Given the description of an element on the screen output the (x, y) to click on. 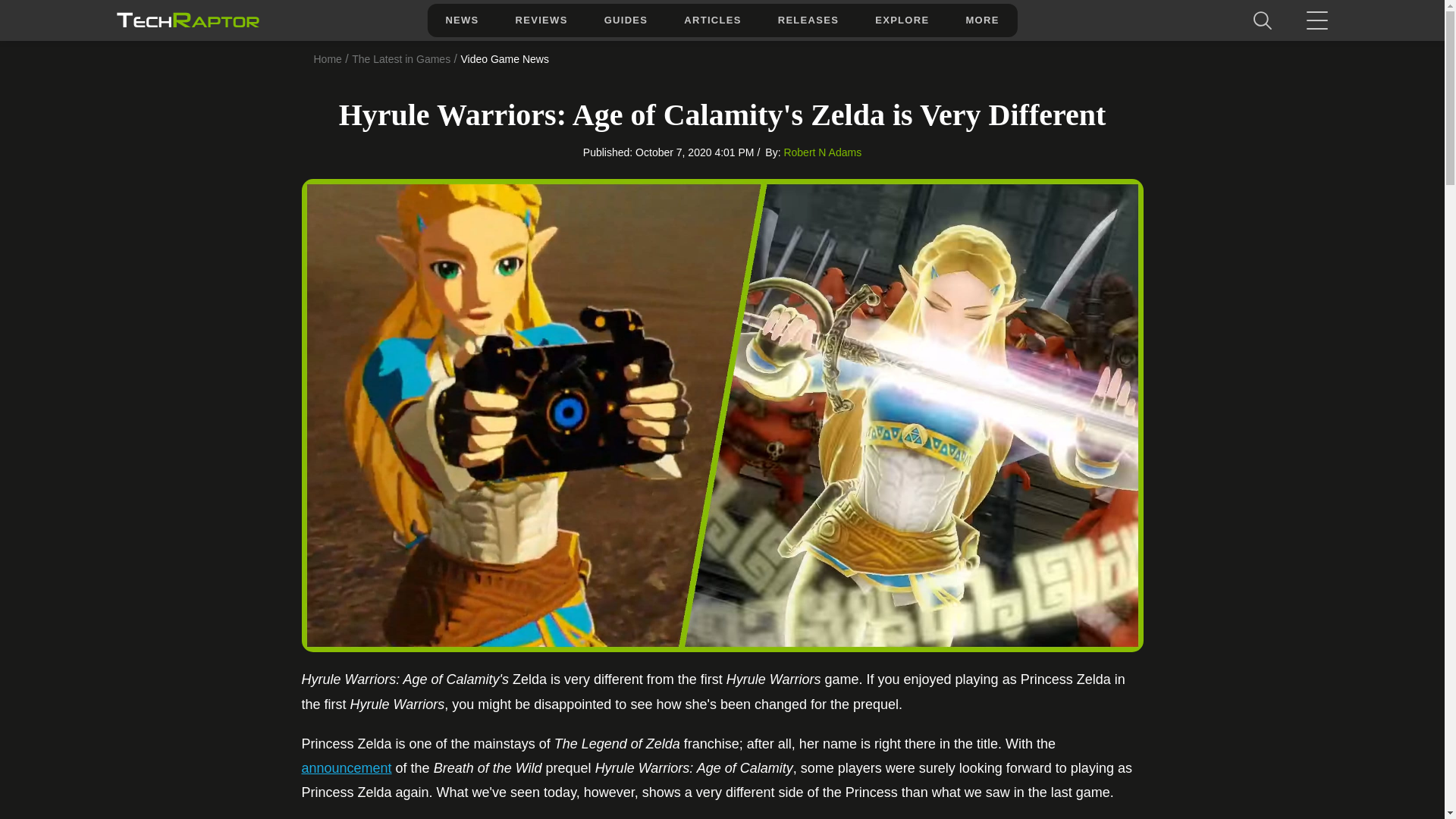
GUIDES (626, 20)
TechRaptor Home (187, 20)
NEWS (461, 20)
RELEASES (807, 20)
REVIEWS (541, 20)
ARTICLES (711, 20)
